Given the description of an element on the screen output the (x, y) to click on. 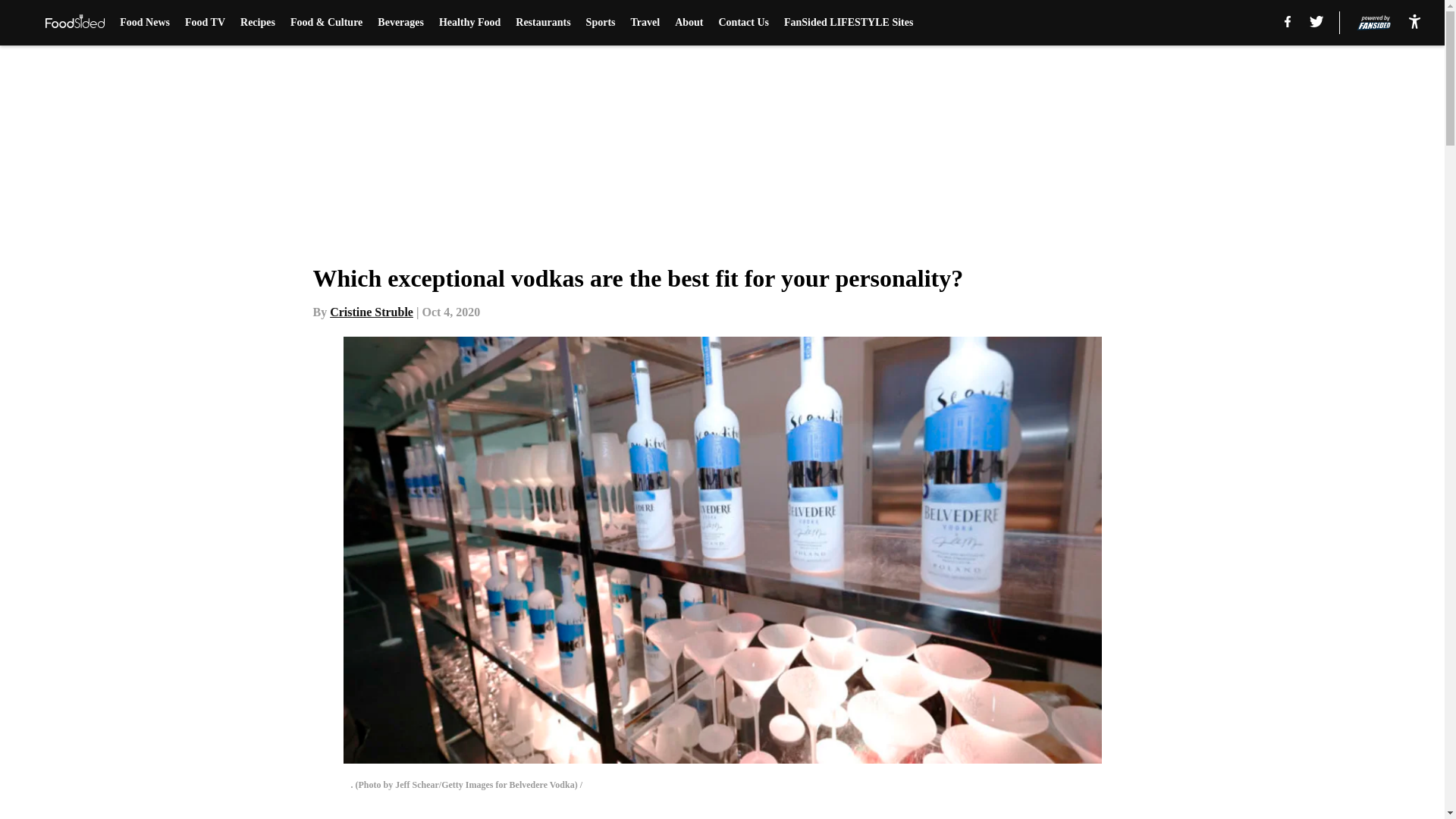
Food TV (204, 22)
Beverages (400, 22)
Healthy Food (469, 22)
Cristine Struble (371, 311)
Food News (144, 22)
Contact Us (744, 22)
About (689, 22)
Travel (645, 22)
Restaurants (542, 22)
Sports (600, 22)
Recipes (257, 22)
FanSided LIFESTYLE Sites (848, 22)
